Given the description of an element on the screen output the (x, y) to click on. 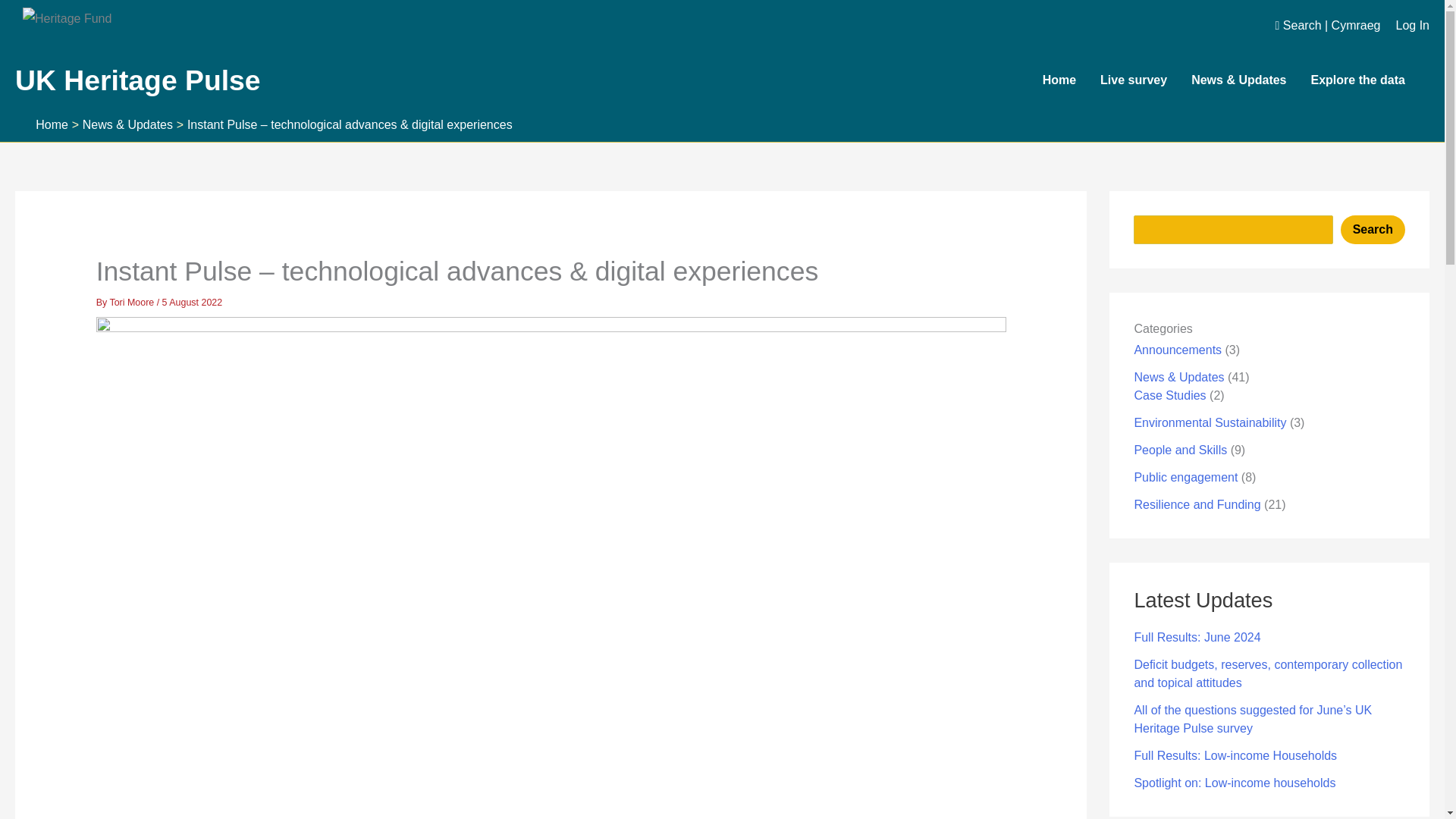
Search (1372, 229)
Announcements (1177, 349)
Home (51, 124)
UK Heritage Pulse (137, 80)
Explore the data (1370, 80)
Cymraeg (1356, 24)
Live survey (1145, 80)
Home (1071, 80)
Tori Moore (132, 302)
Log In (1412, 25)
